Given the description of an element on the screen output the (x, y) to click on. 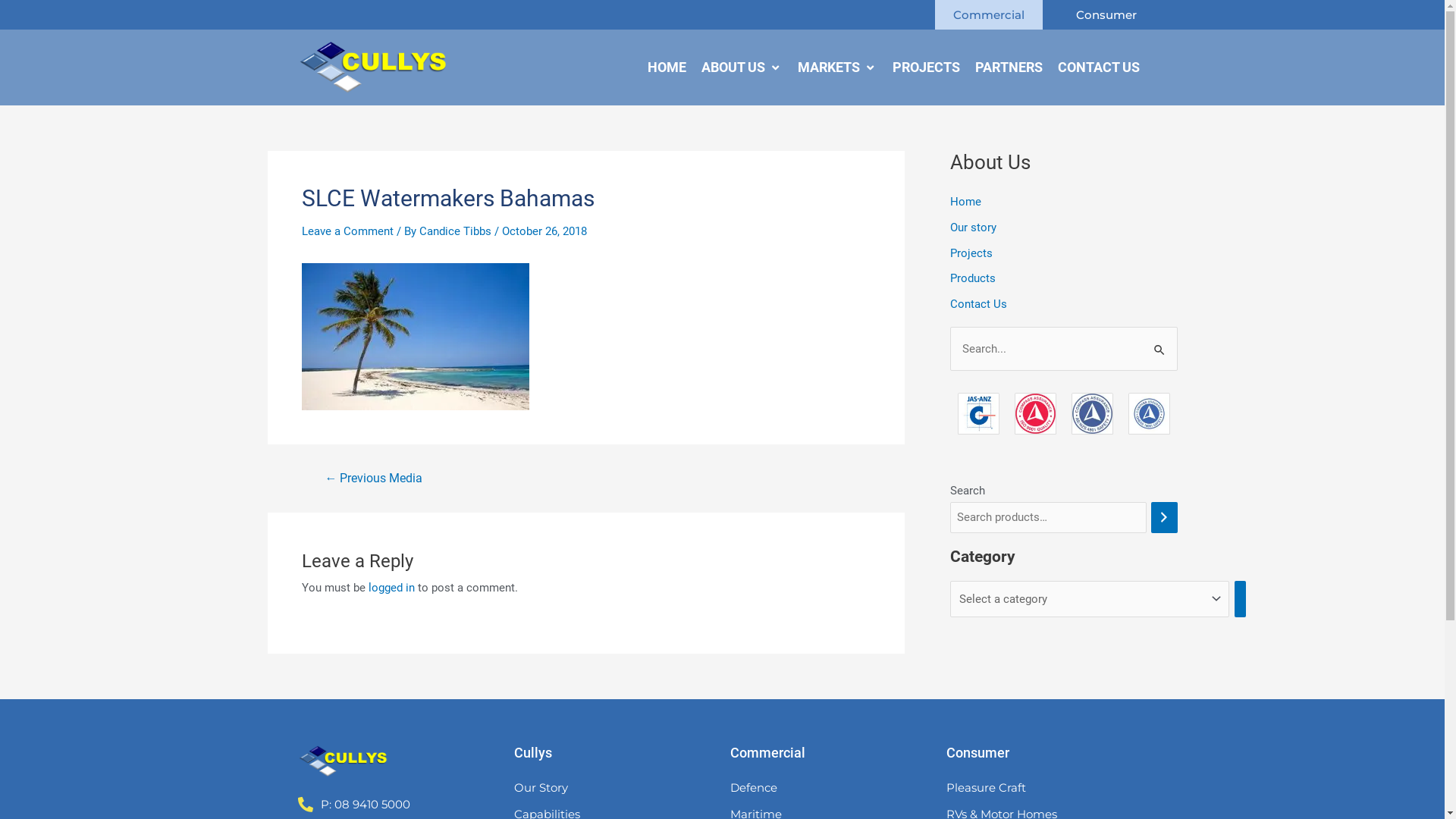
Home Element type: text (964, 201)
Defence Element type: text (829, 787)
Search Element type: text (1160, 341)
CONTACT US Element type: text (1098, 67)
HOME Element type: text (666, 67)
ABOUT US Element type: text (732, 67)
Projects Element type: text (970, 253)
PROJECTS Element type: text (925, 67)
MARKETS Element type: text (828, 67)
Pleasure Craft Element type: text (1046, 787)
P: 08 9410 5000 Element type: text (367, 804)
Candice Tibbs Element type: text (455, 231)
Leave a Comment Element type: text (347, 231)
logged in Element type: text (391, 587)
Consumer Element type: text (1105, 14)
Contact Us Element type: text (977, 303)
Our Story Element type: text (614, 787)
PARTNERS Element type: text (1008, 67)
Commercial Element type: text (987, 14)
Our story Element type: text (972, 227)
Products Element type: text (971, 278)
